Given the description of an element on the screen output the (x, y) to click on. 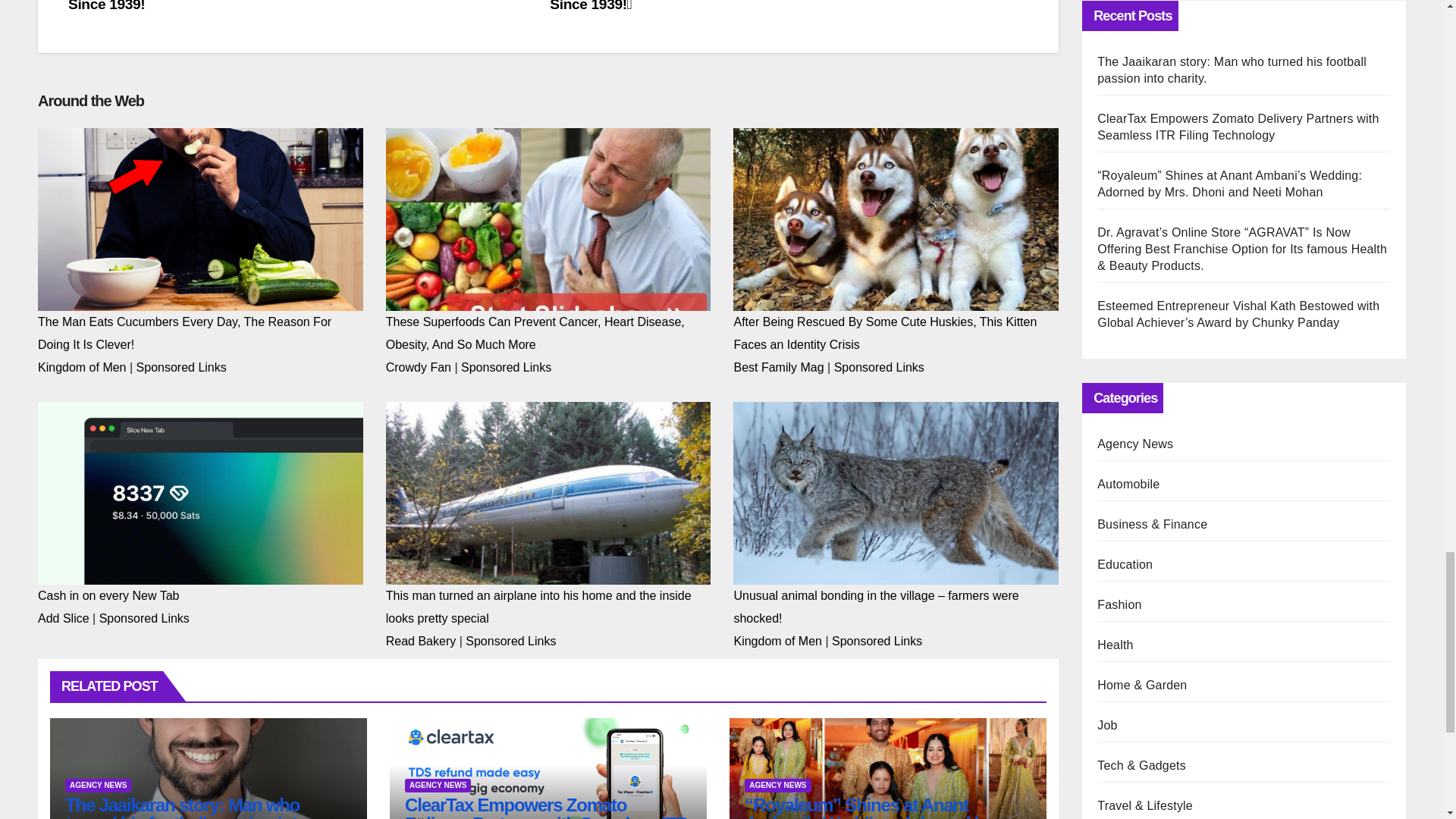
Crowdy Fan (418, 367)
Best Family Mag (778, 367)
Sponsored Links (879, 367)
Kingdom of Men (81, 367)
Sponsored Links (506, 367)
Sponsored Links (181, 367)
